Given the description of an element on the screen output the (x, y) to click on. 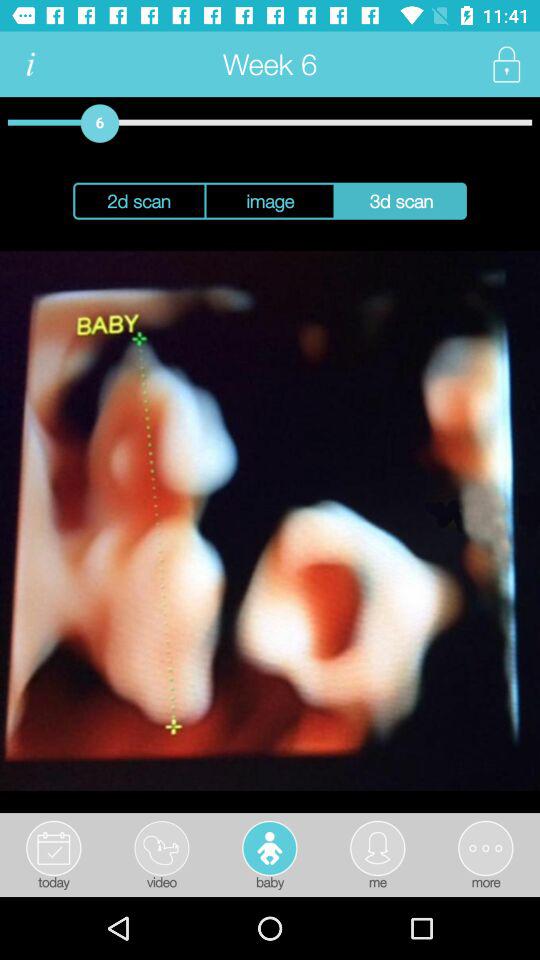
jump until the 3d scan icon (400, 200)
